Given the description of an element on the screen output the (x, y) to click on. 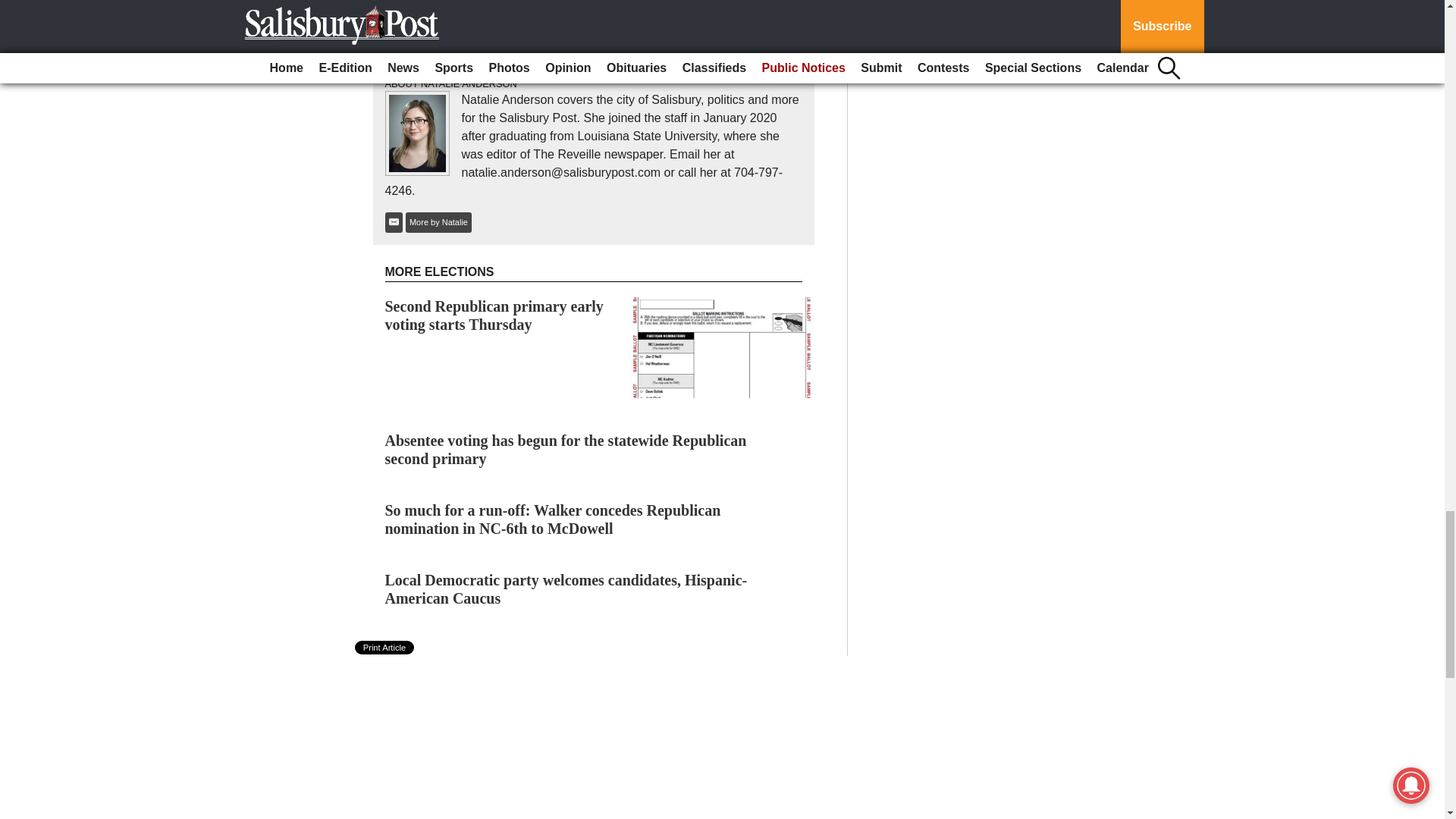
Second Republican primary early voting starts Thursday (494, 315)
